Given the description of an element on the screen output the (x, y) to click on. 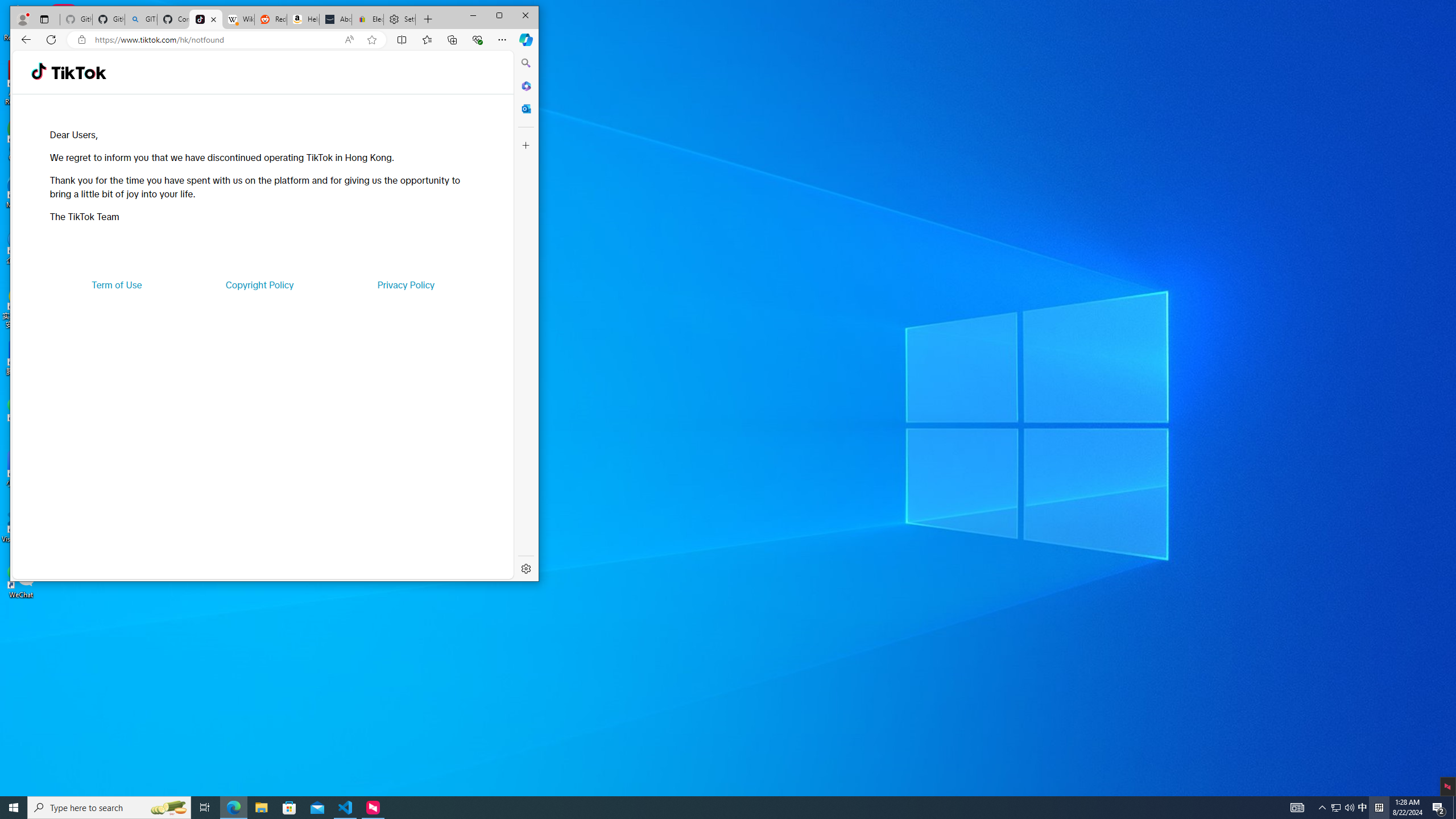
Microsoft Store (289, 807)
